Given the description of an element on the screen output the (x, y) to click on. 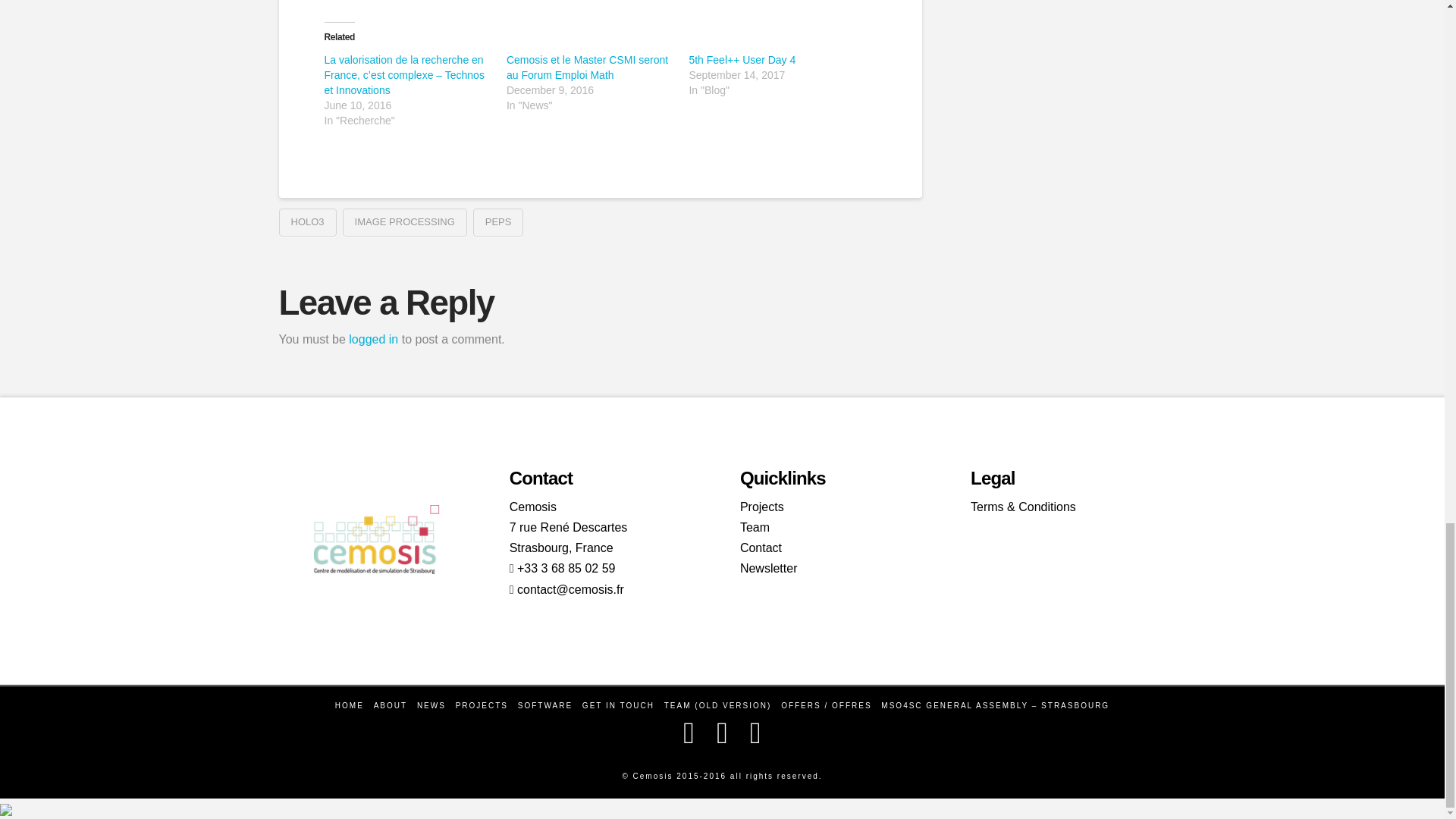
Cemosis et le Master CSMI seront au Forum Emploi Math (587, 67)
